Given the description of an element on the screen output the (x, y) to click on. 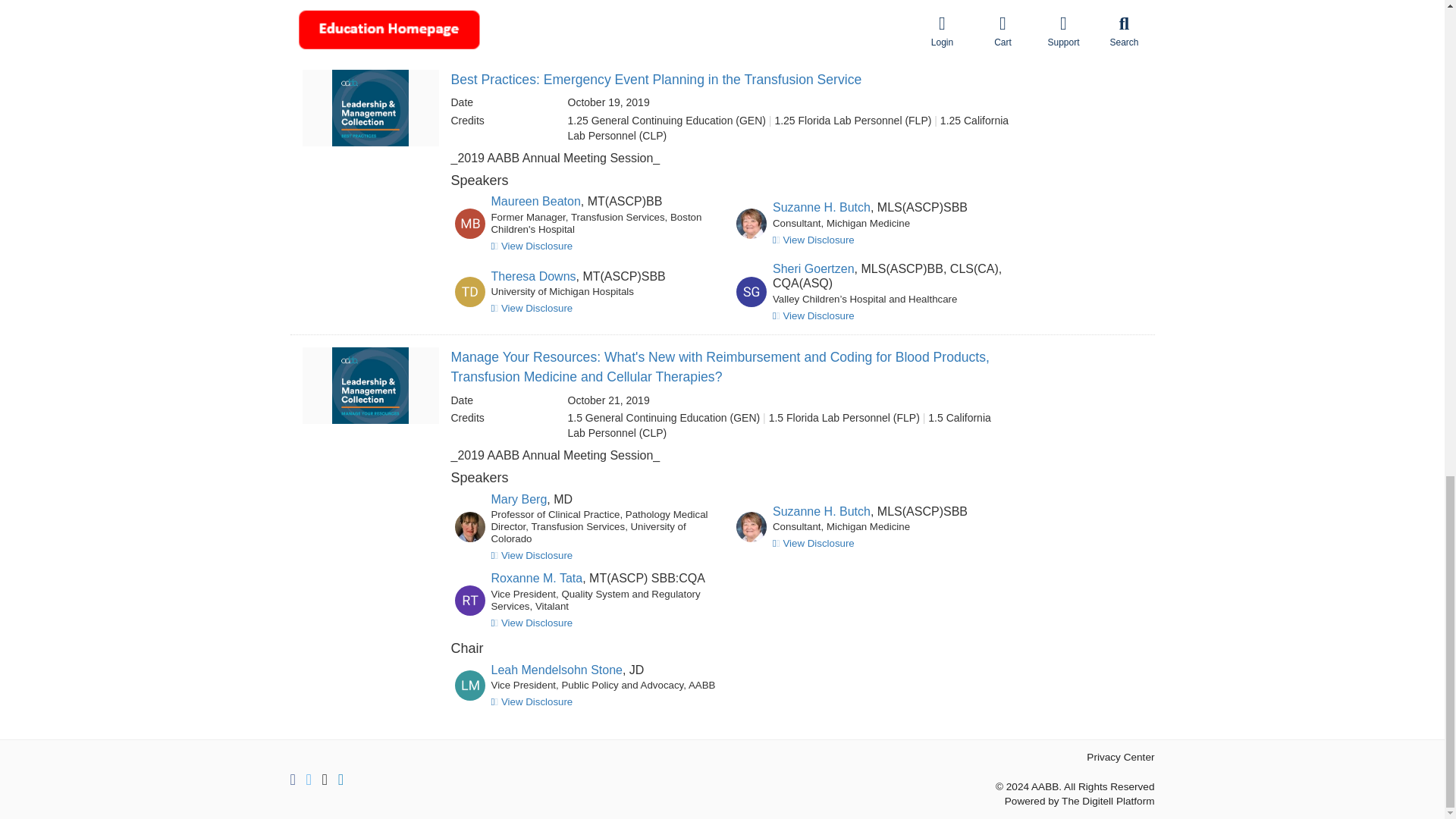
Speaker Image for Suzanne Butch (751, 526)
Sheri Goertzen (813, 268)
View Disclosure (532, 307)
Speaker Image for Suzanne Butch (469, 21)
View Disclosure (532, 38)
Speaker Image for Sheri Goertzen (751, 291)
Speaker Image for Mary Berg (469, 526)
View Disclosure (813, 239)
Speaker Image for Maureen Beaton (469, 223)
Theresa Downs (534, 276)
Speaker Image for Suzanne Butch (751, 223)
View Disclosure (532, 245)
Maureen Beaton (536, 201)
Suzanne H. Butch (821, 206)
Suzanne H. Butch (540, 6)
